Given the description of an element on the screen output the (x, y) to click on. 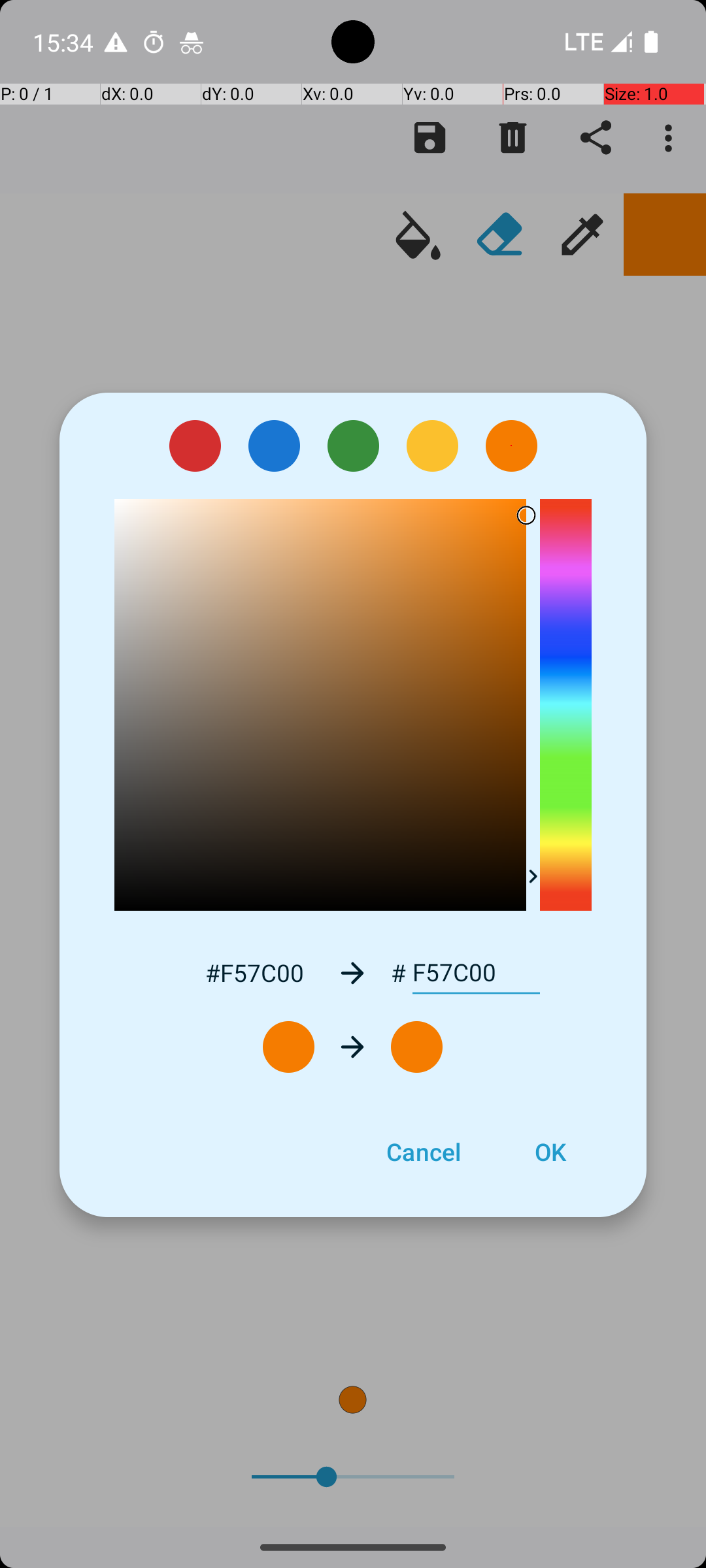
#F57C00 Element type: android.widget.TextView (254, 972)
# Element type: android.widget.TextView (397, 972)
F57C00 Element type: android.widget.EditText (475, 972)
